Given the description of an element on the screen output the (x, y) to click on. 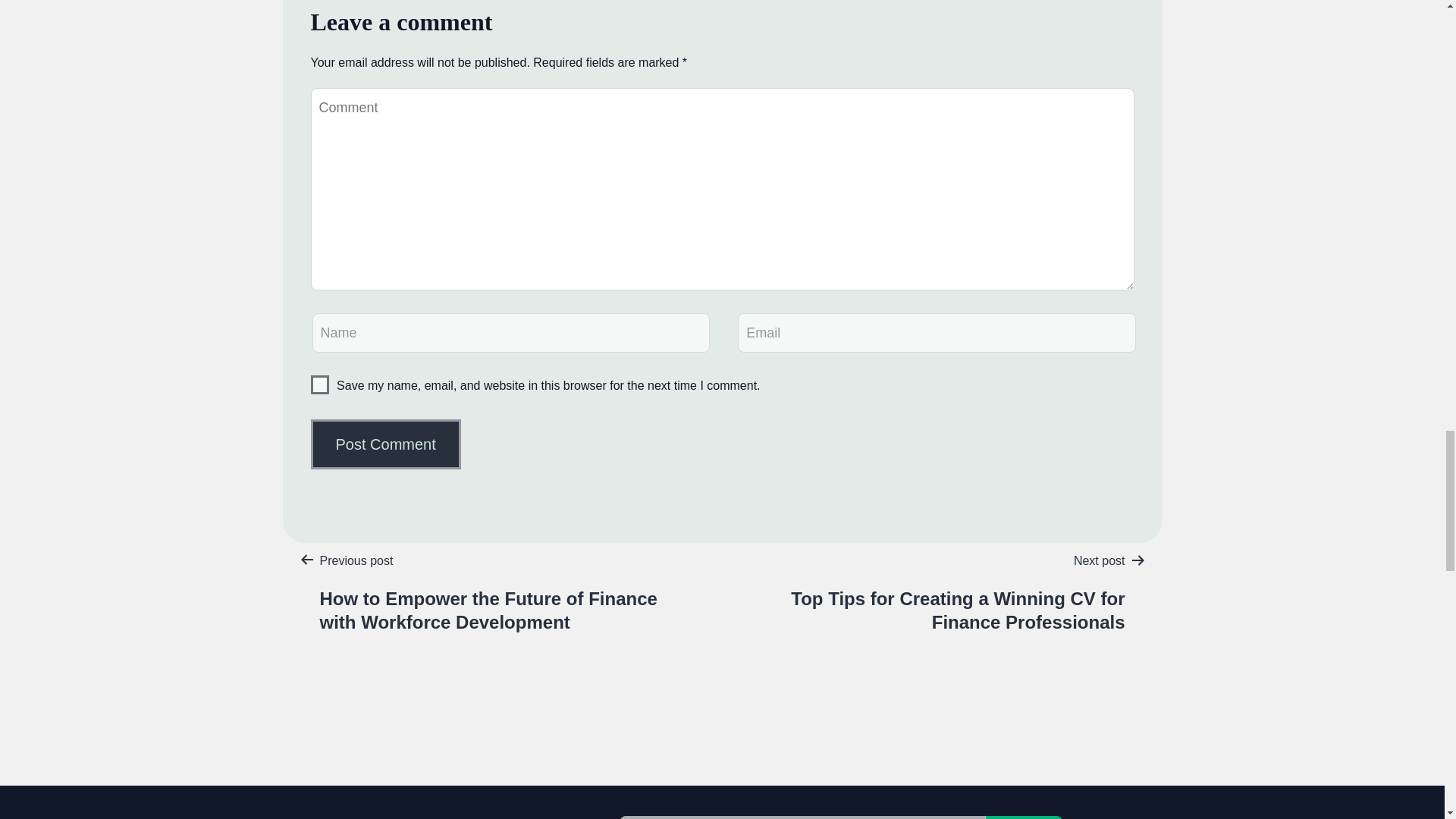
yes (320, 384)
Post Comment (386, 444)
